Given the description of an element on the screen output the (x, y) to click on. 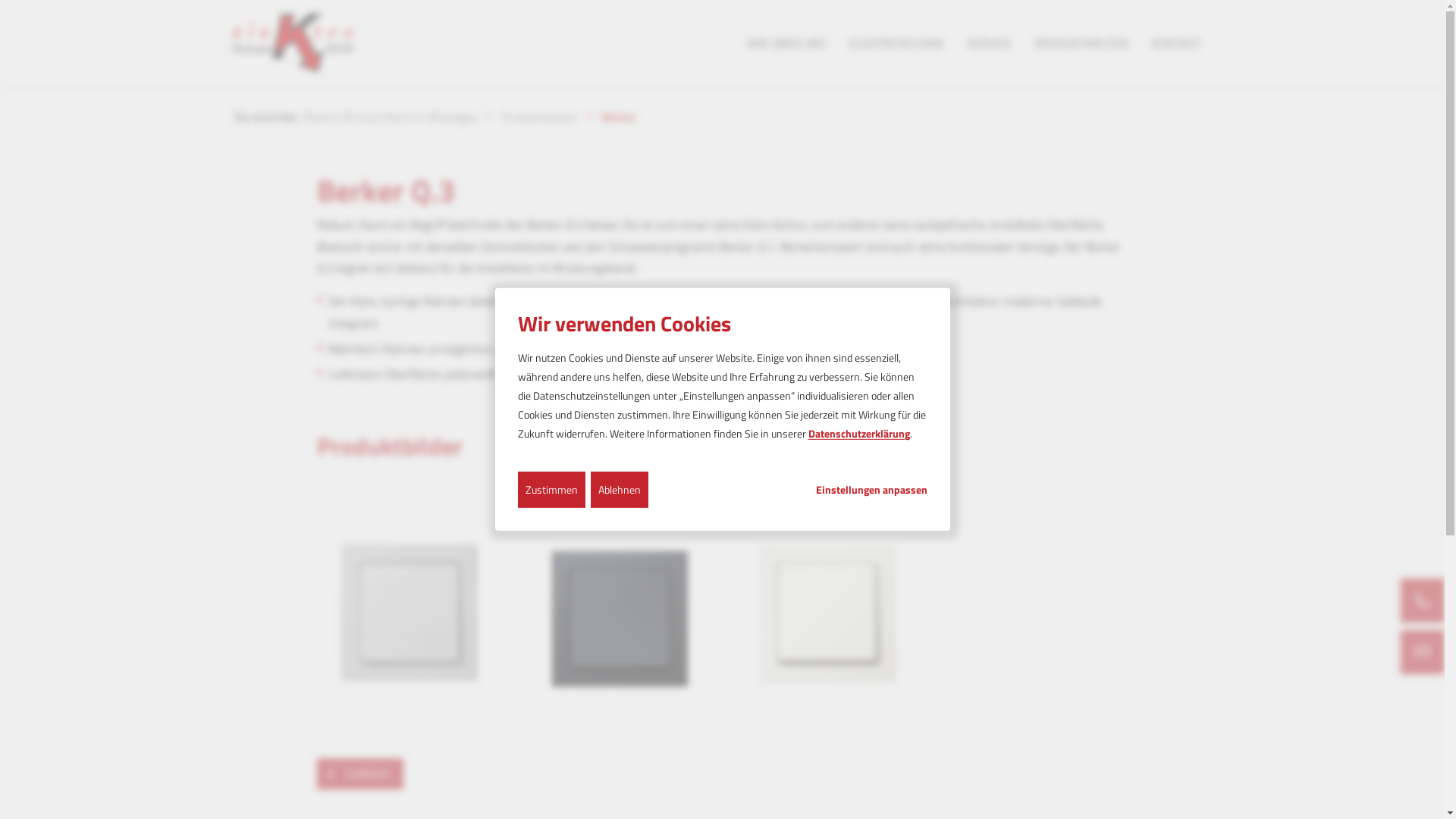
Zustimmen Element type: text (550, 489)
KONTAKT Element type: text (1175, 43)
Produktwelten Element type: text (538, 116)
  Element type: hover (409, 612)
Elektro Richard Koch in Mistelgau Element type: text (390, 116)
Ablehnen Element type: text (618, 489)
  Element type: hover (617, 612)
PRODUKTWELTEN Element type: text (1081, 43)
Einstellungen anpassen... Element type: text (871, 488)
SERVICE Element type: text (988, 43)
  Element type: hover (826, 612)
ELEKTROTECHNIK Element type: text (896, 43)
